Given the description of an element on the screen output the (x, y) to click on. 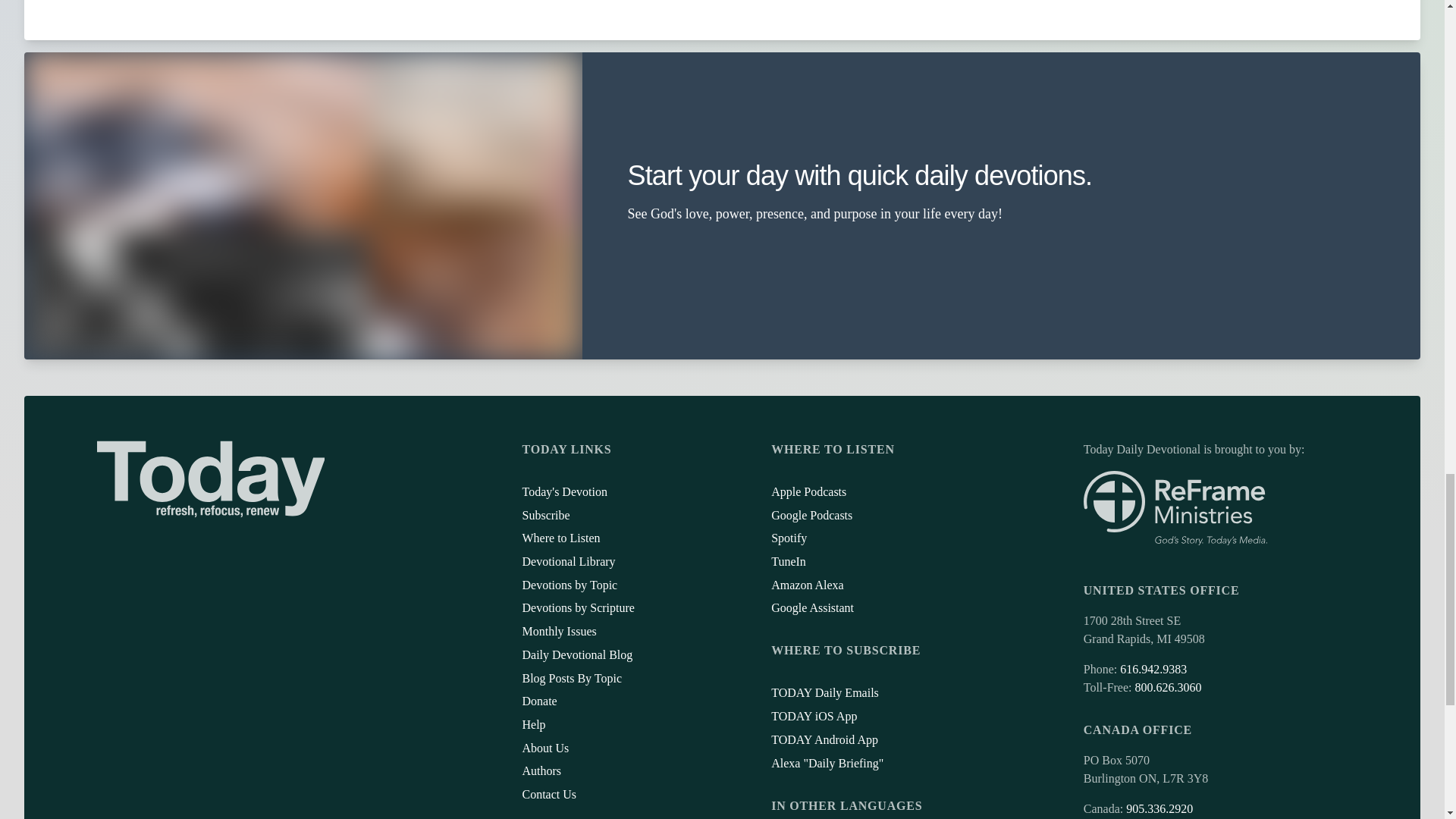
Today Daily Devotional (210, 478)
Daily Devotional Blog (576, 654)
Where to Listen (560, 537)
Devotions by Topic (569, 584)
Monthly Issues (558, 631)
Donate (538, 700)
About Us (545, 748)
Subscribe (545, 513)
Devotional Library (567, 561)
Help (532, 724)
Today's Devotion (564, 491)
Blog Posts By Topic (571, 677)
ReFrame Ministries: God's story. Today's media. (1174, 508)
Devotions by Scripture (577, 607)
